Given the description of an element on the screen output the (x, y) to click on. 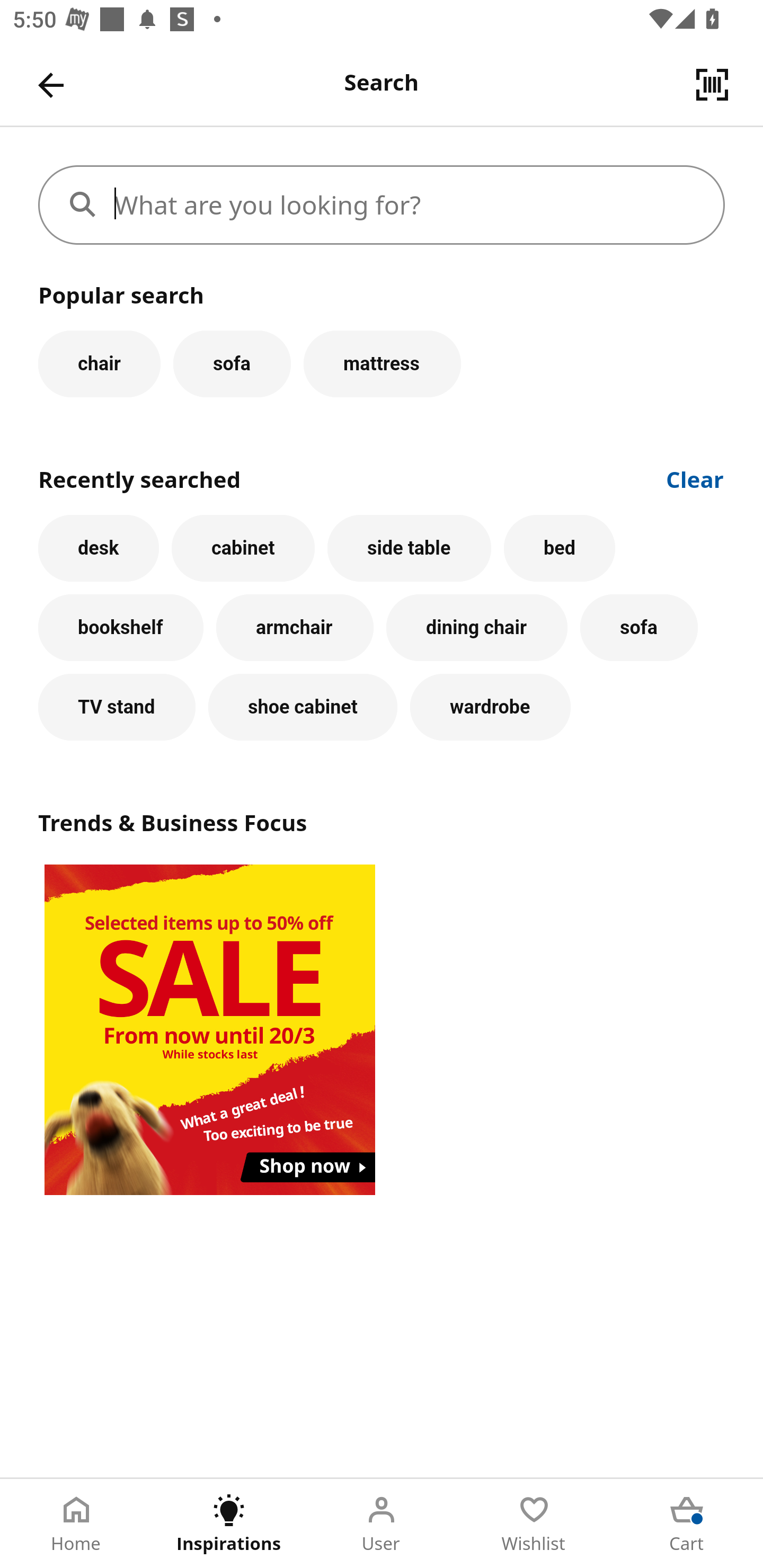
chair (99, 363)
sofa (231, 363)
mattress (381, 363)
Clear (695, 477)
desk (98, 547)
cabinet (242, 547)
side table (409, 547)
bed (558, 547)
bookshelf (120, 627)
armchair (294, 627)
dining chair (476, 627)
sofa (638, 627)
TV stand (116, 707)
shoe cabinet (302, 707)
wardrobe (490, 707)
Home
Tab 1 of 5 (76, 1522)
Inspirations
Tab 2 of 5 (228, 1522)
User
Tab 3 of 5 (381, 1522)
Wishlist
Tab 4 of 5 (533, 1522)
Cart
Tab 5 of 5 (686, 1522)
